Given the description of an element on the screen output the (x, y) to click on. 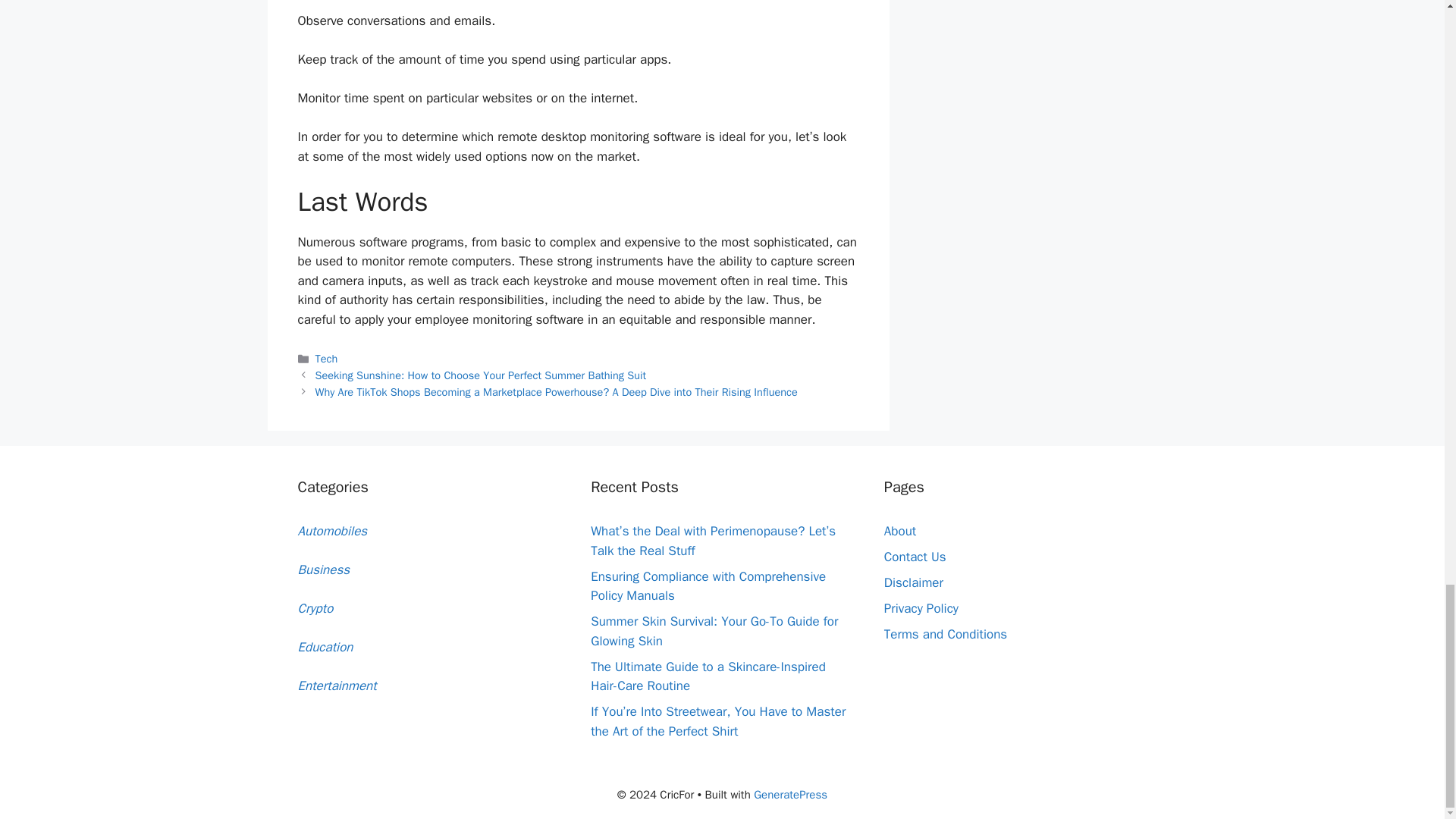
Tech (326, 358)
